Given the description of an element on the screen output the (x, y) to click on. 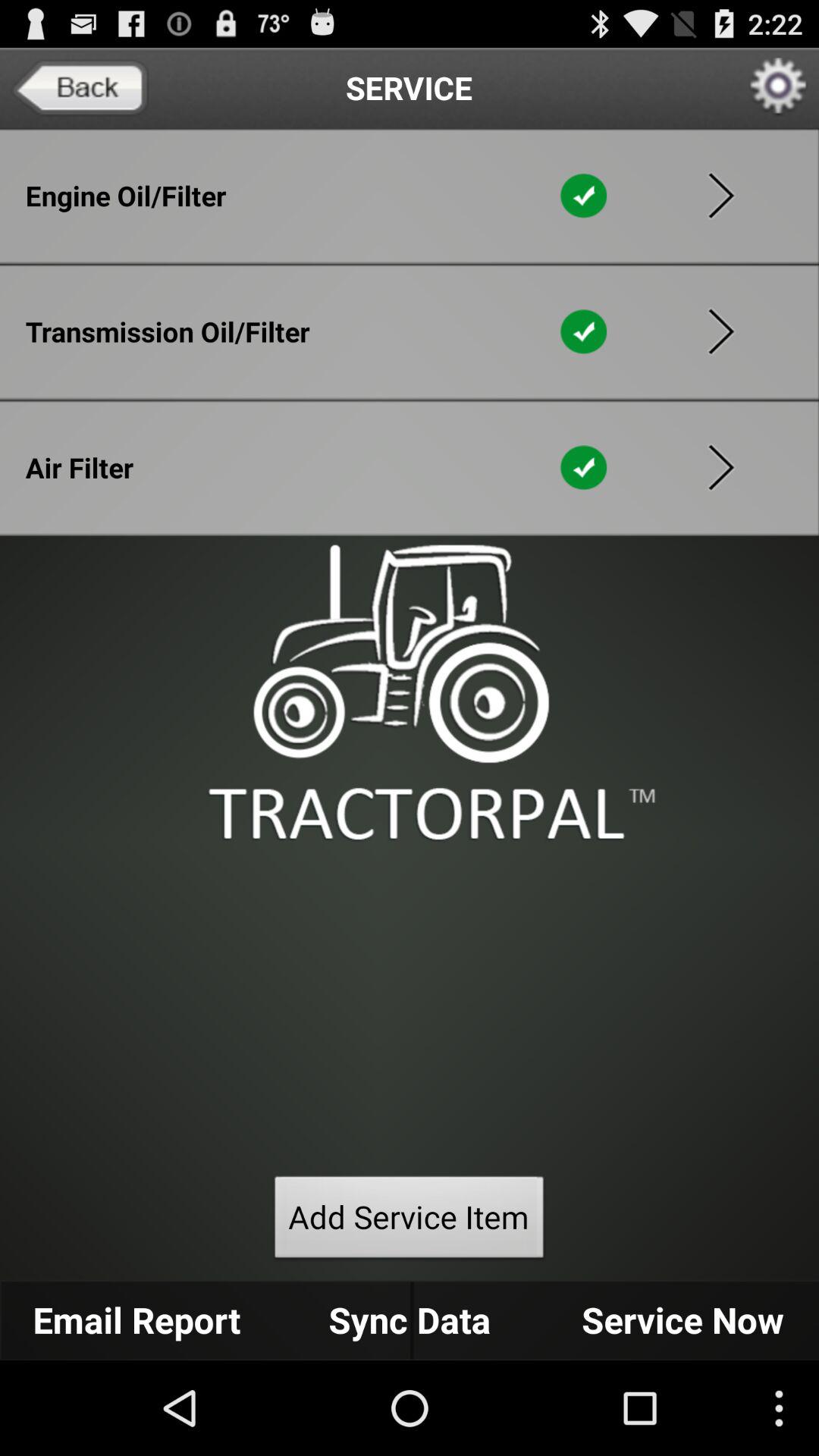
get more information about air filters (721, 467)
